Given the description of an element on the screen output the (x, y) to click on. 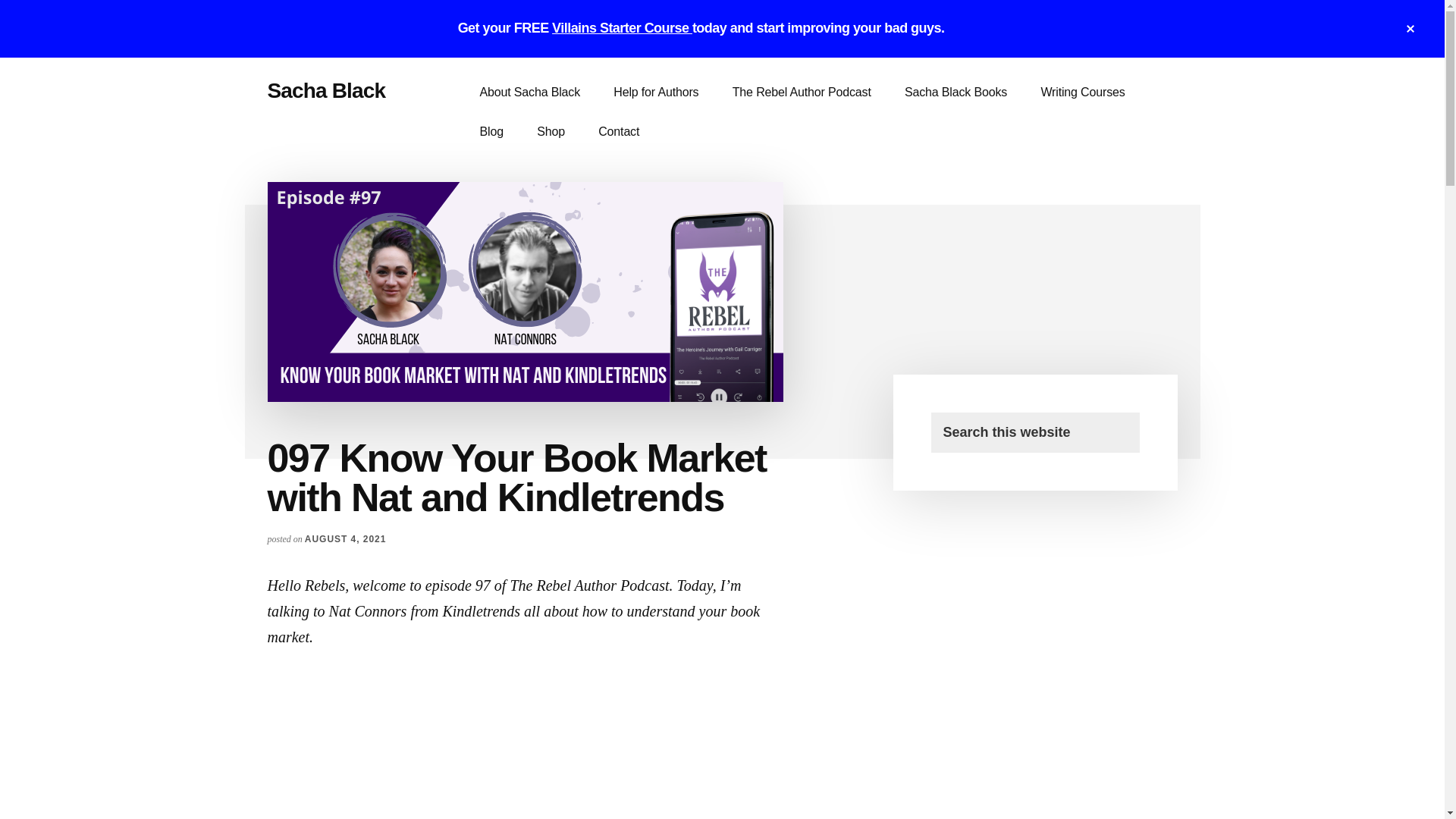
Contact (618, 131)
The Rebel Author Podcast (801, 92)
Sacha Black Books (955, 92)
097 Know Your Book Market with Nat and Kindletrends (524, 733)
Writing Courses (1082, 92)
Blog (491, 131)
Villains Starter Course (622, 28)
